Given the description of an element on the screen output the (x, y) to click on. 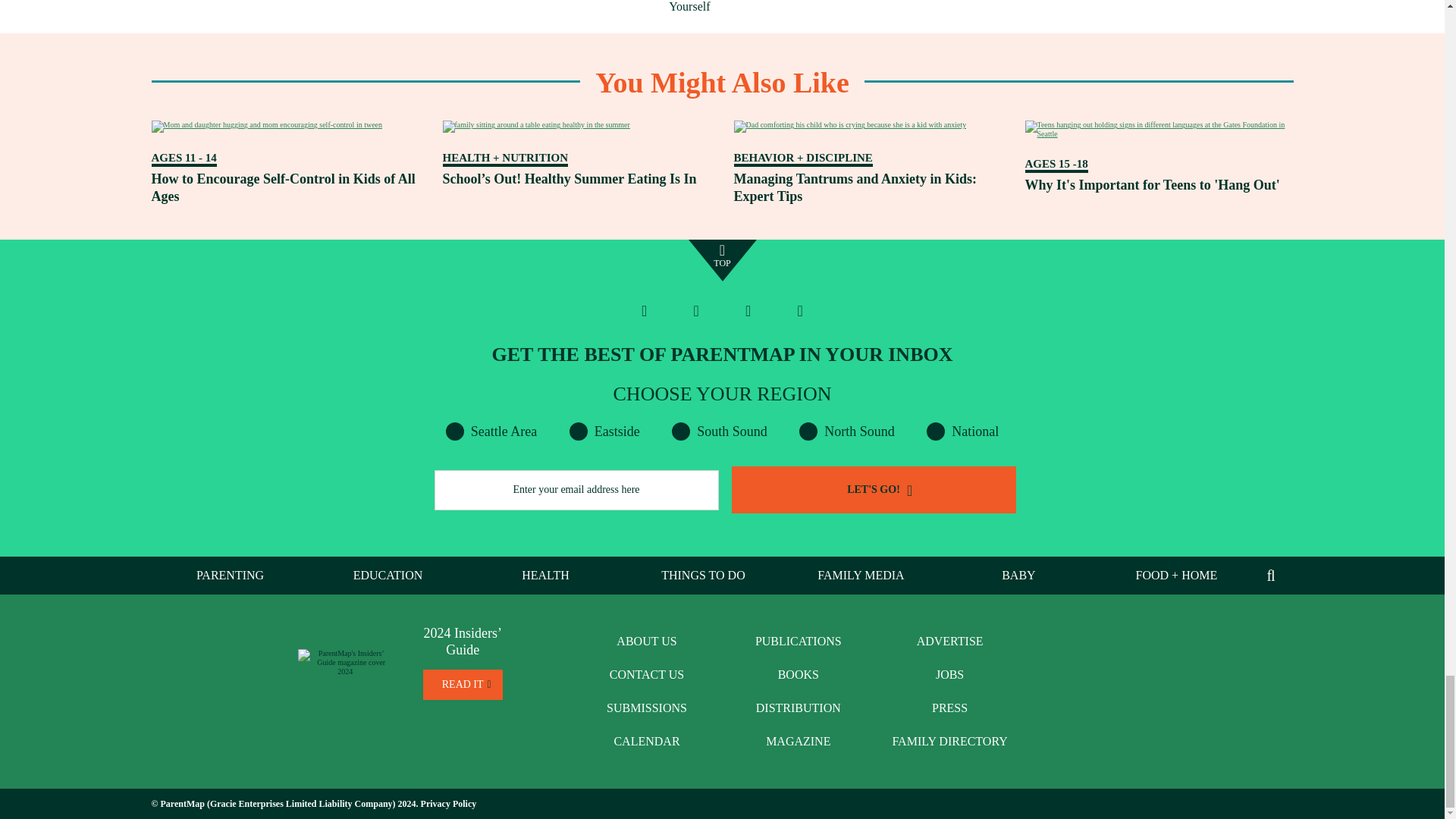
Let's Go! (872, 489)
